Given the description of an element on the screen output the (x, y) to click on. 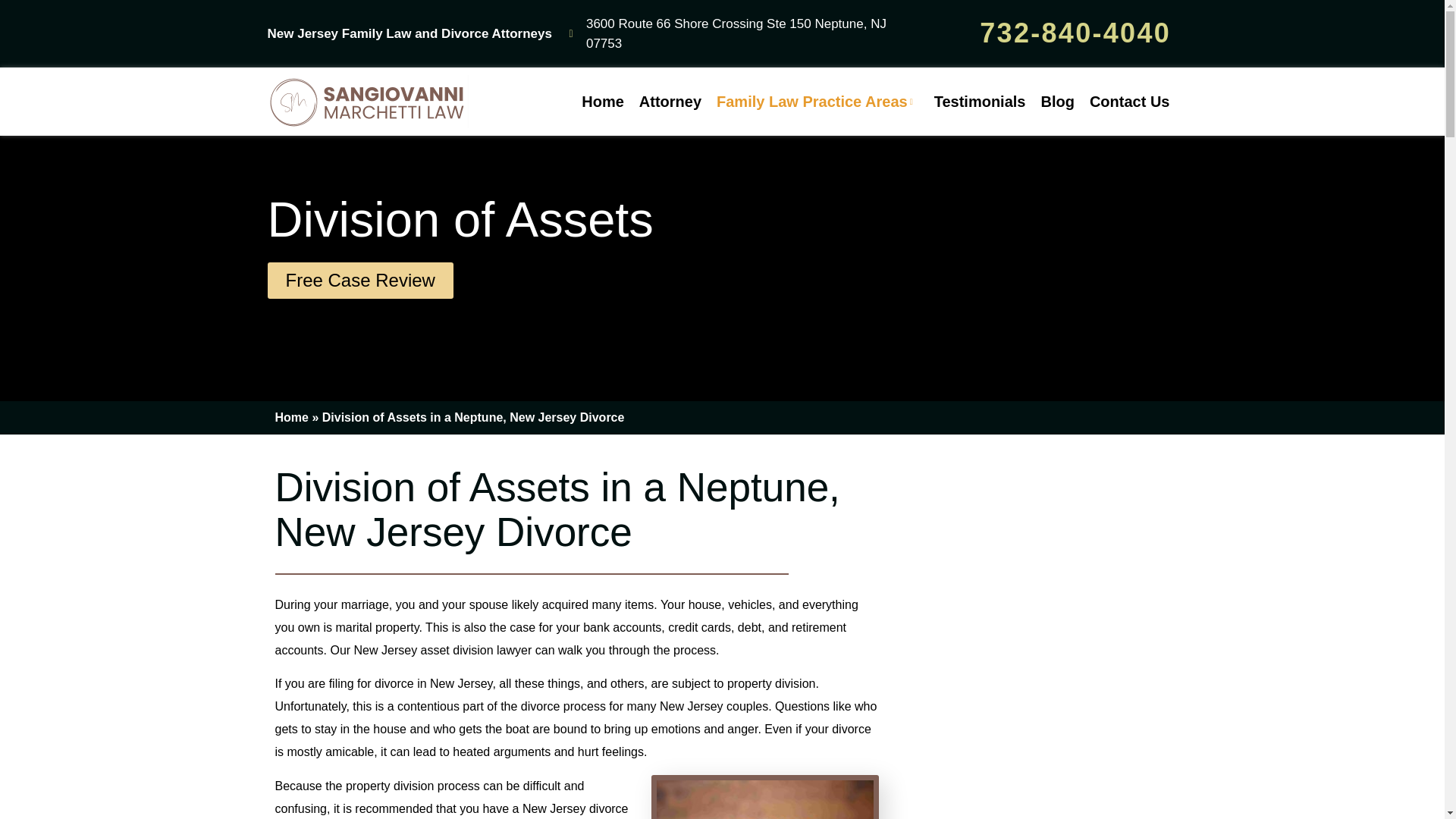
Home (602, 101)
Free Case Review (359, 280)
Family Law Practice Areas (817, 101)
Contact Us (1129, 101)
Home (291, 417)
Attorney (670, 101)
732-840-4040 (1074, 32)
Blog (1056, 101)
Testimonials (979, 101)
